Given the description of an element on the screen output the (x, y) to click on. 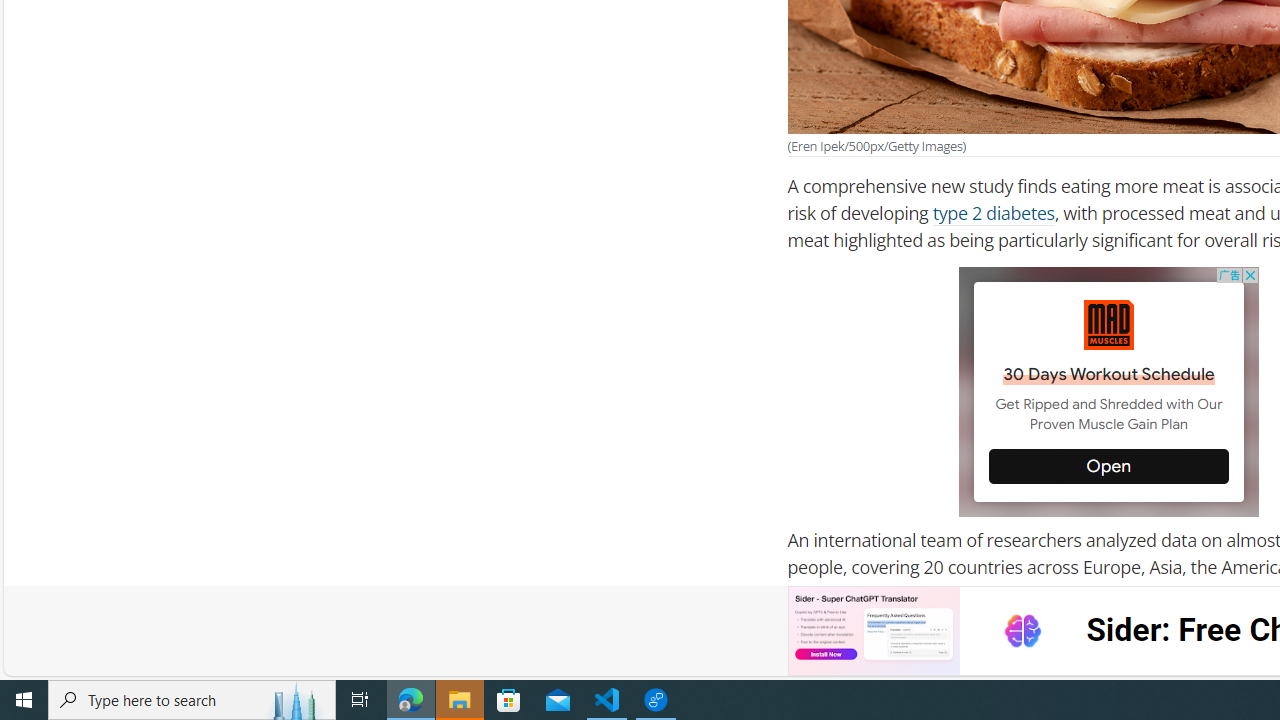
type 2 diabetes (992, 213)
 processed meat (936, 660)
